Given the description of an element on the screen output the (x, y) to click on. 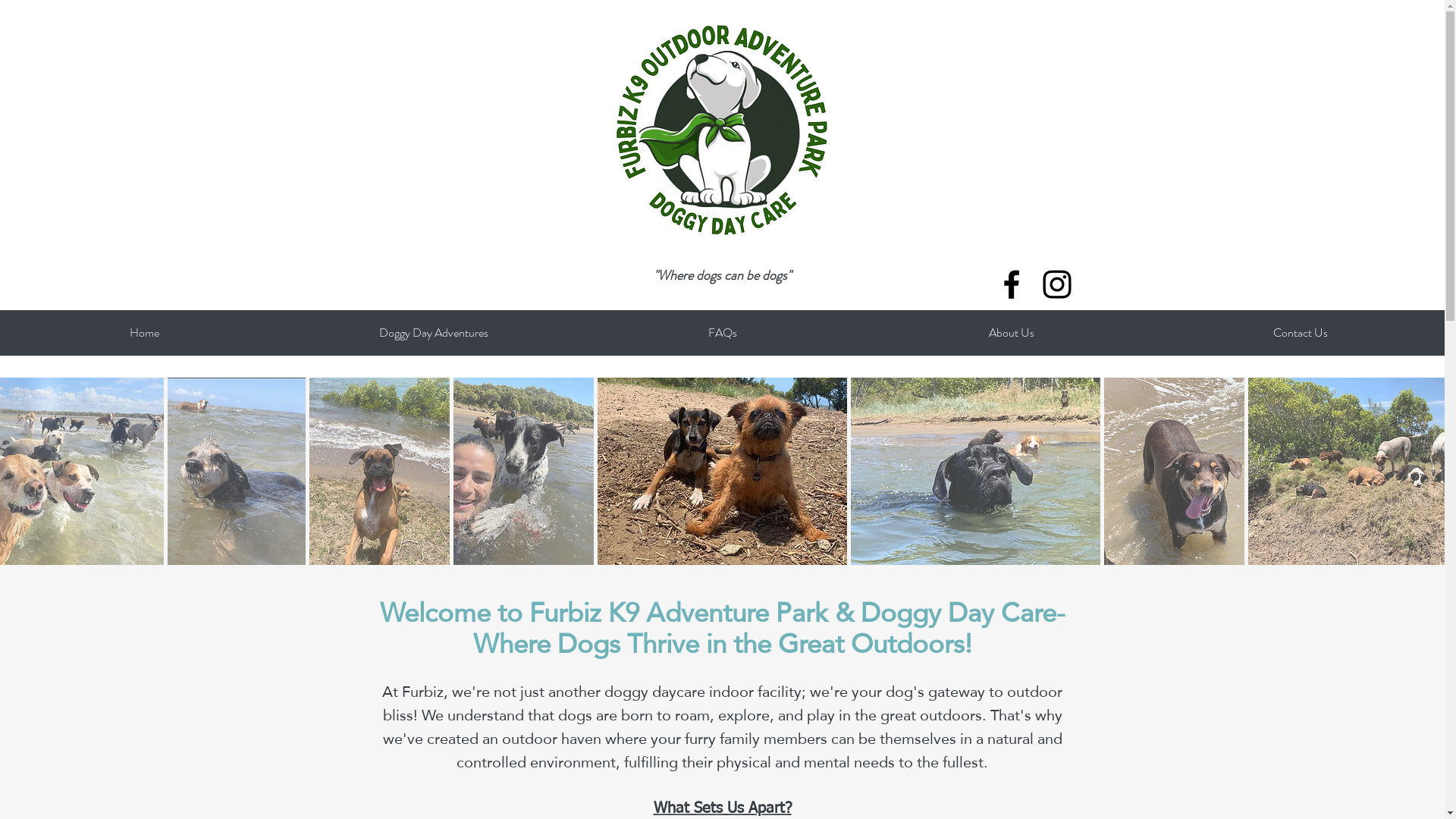
Home Element type: text (144, 332)
"Where dogs can be dogs" Element type: text (721, 275)
FAQs Element type: text (721, 332)
Doggy Day Adventures Element type: text (432, 332)
About Us Element type: text (1010, 332)
Contact Us Element type: text (1299, 332)
